Given the description of an element on the screen output the (x, y) to click on. 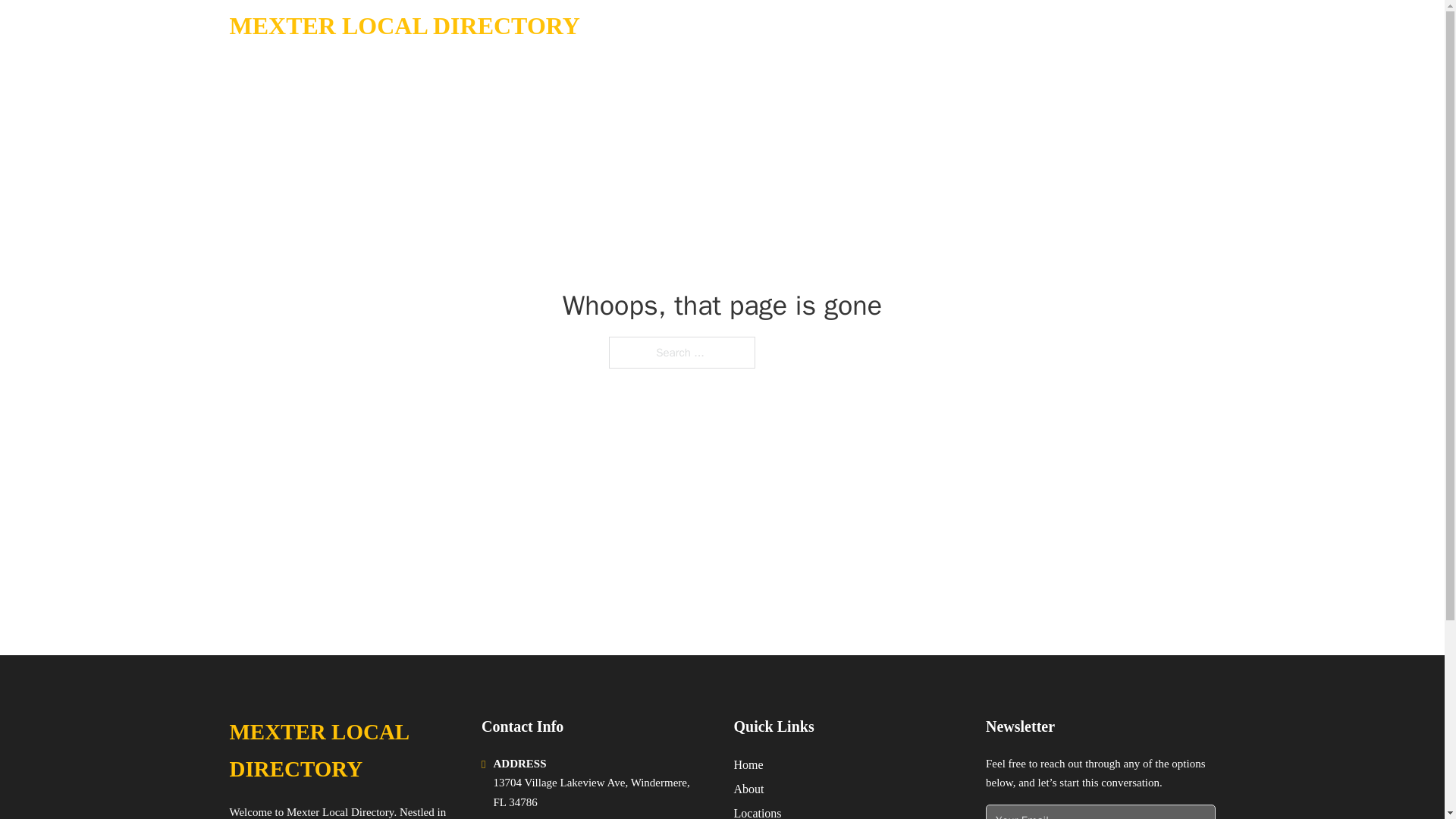
MEXTER LOCAL DIRECTORY (403, 25)
Locations (757, 811)
MEXTER LOCAL DIRECTORY (343, 750)
LOCATIONS (1075, 25)
HOME (1002, 25)
Home (747, 764)
About (748, 788)
